Given the description of an element on the screen output the (x, y) to click on. 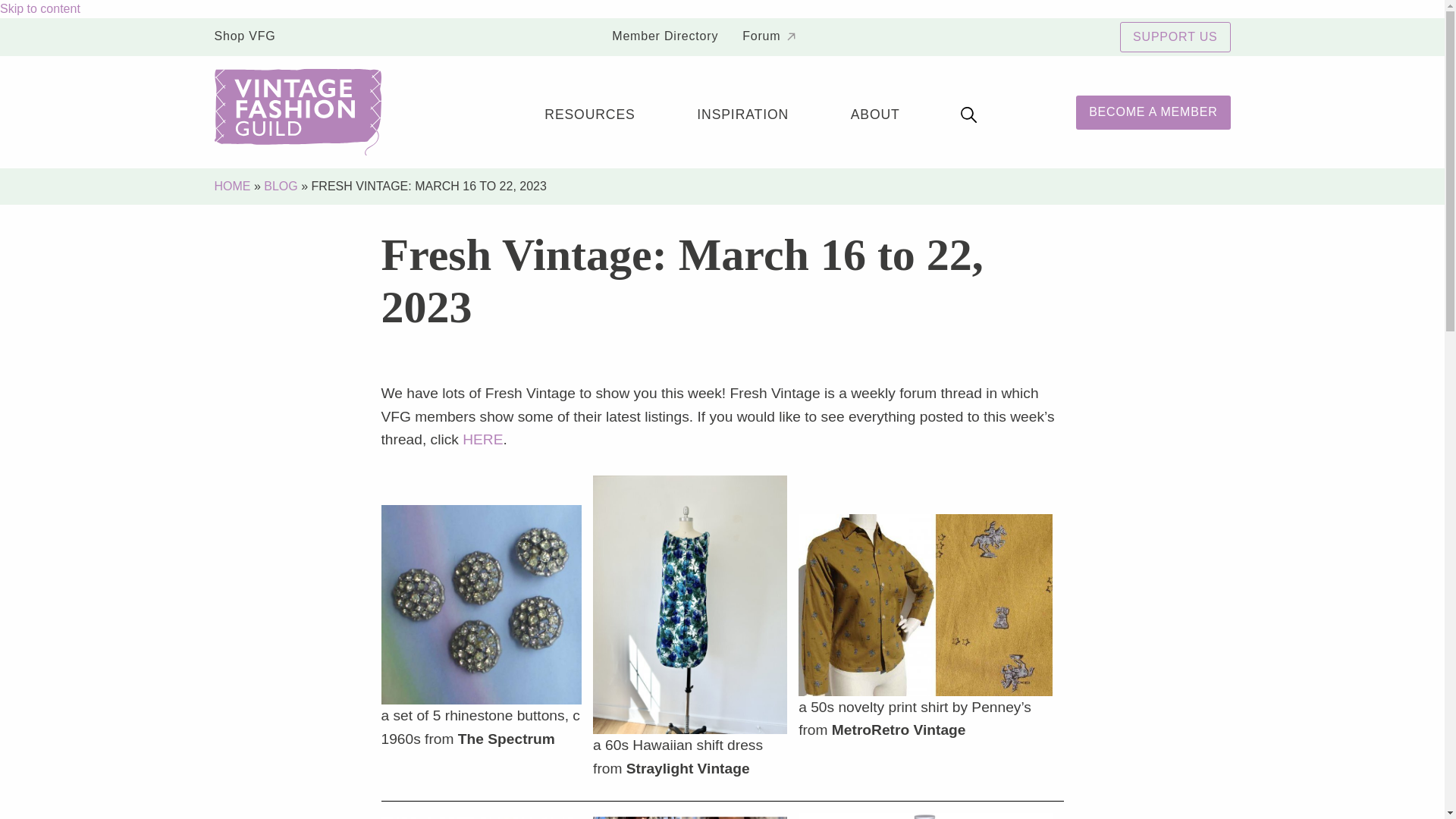
RESOURCES (589, 112)
Shop VFG (250, 37)
Skip to content (40, 8)
ABOUT (874, 112)
Member Directory (664, 37)
BECOME A MEMBER (1152, 112)
INSPIRATION (743, 112)
Forum (769, 37)
SUPPORT US (1174, 37)
